Given the description of an element on the screen output the (x, y) to click on. 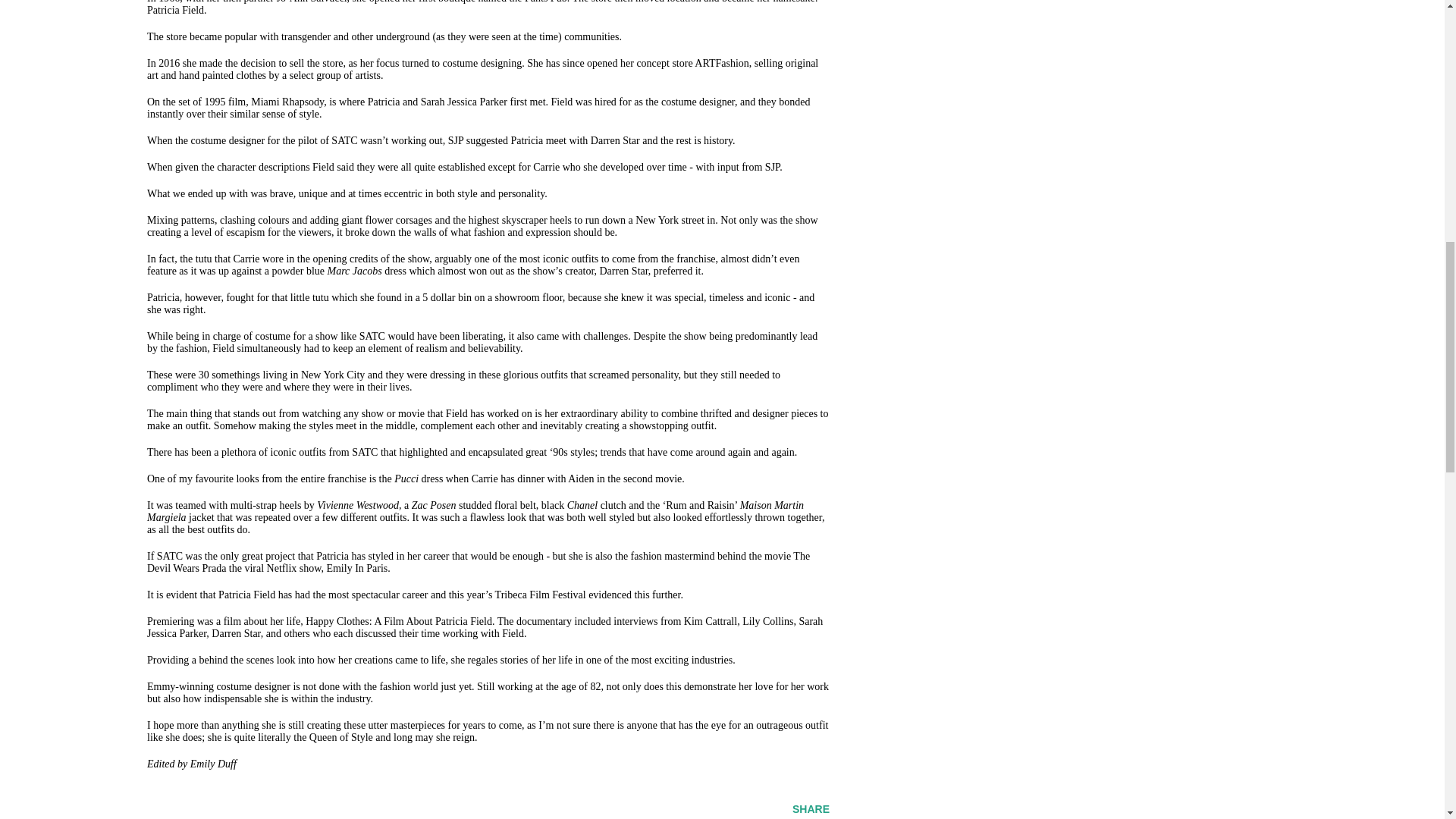
SHARE (810, 807)
Email Post (156, 808)
